Given the description of an element on the screen output the (x, y) to click on. 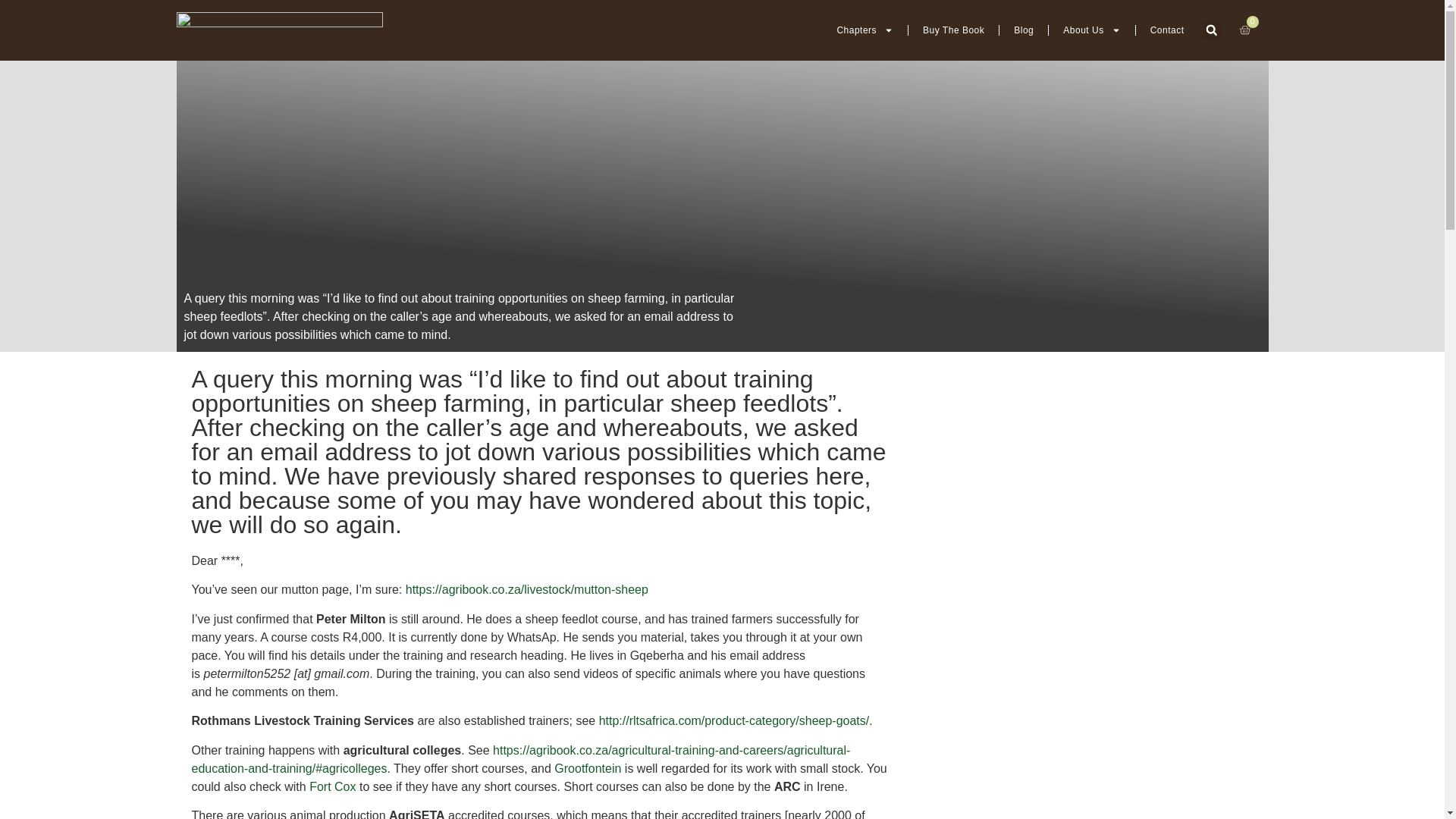
Chapters (864, 30)
